Given the description of an element on the screen output the (x, y) to click on. 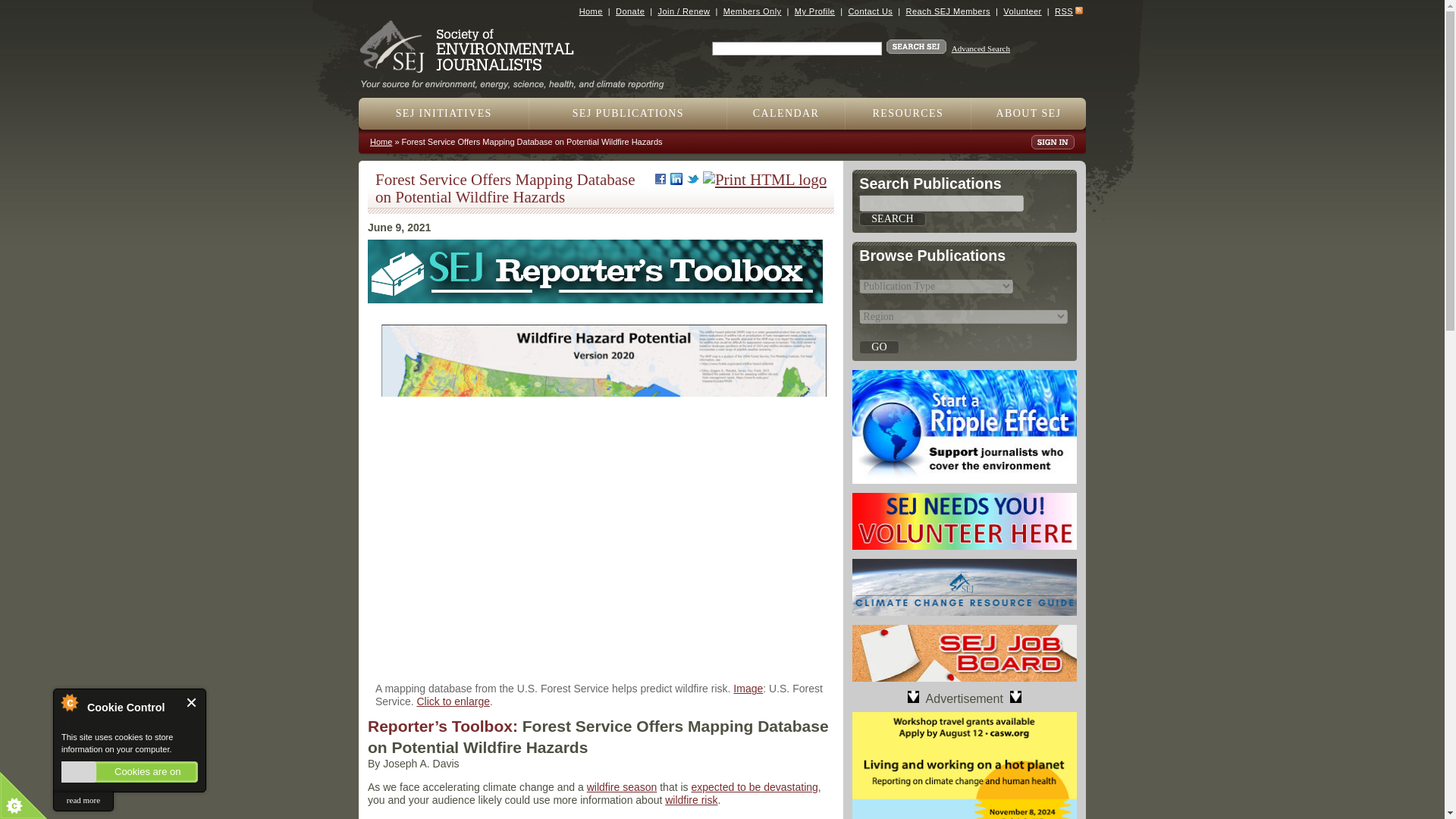
Contact Us (869, 10)
Enter the terms you wish to search for. (796, 48)
SEJ PUBLICATIONS (627, 113)
Home (518, 79)
RSS (1063, 10)
Home (590, 10)
Go (878, 346)
read more (82, 801)
Reach SEJ Members (947, 10)
SEJ INITIATIVES (443, 113)
Search (891, 219)
My Profile (814, 10)
Members Only (752, 10)
Advanced Search (981, 48)
Close (191, 702)
